Given the description of an element on the screen output the (x, y) to click on. 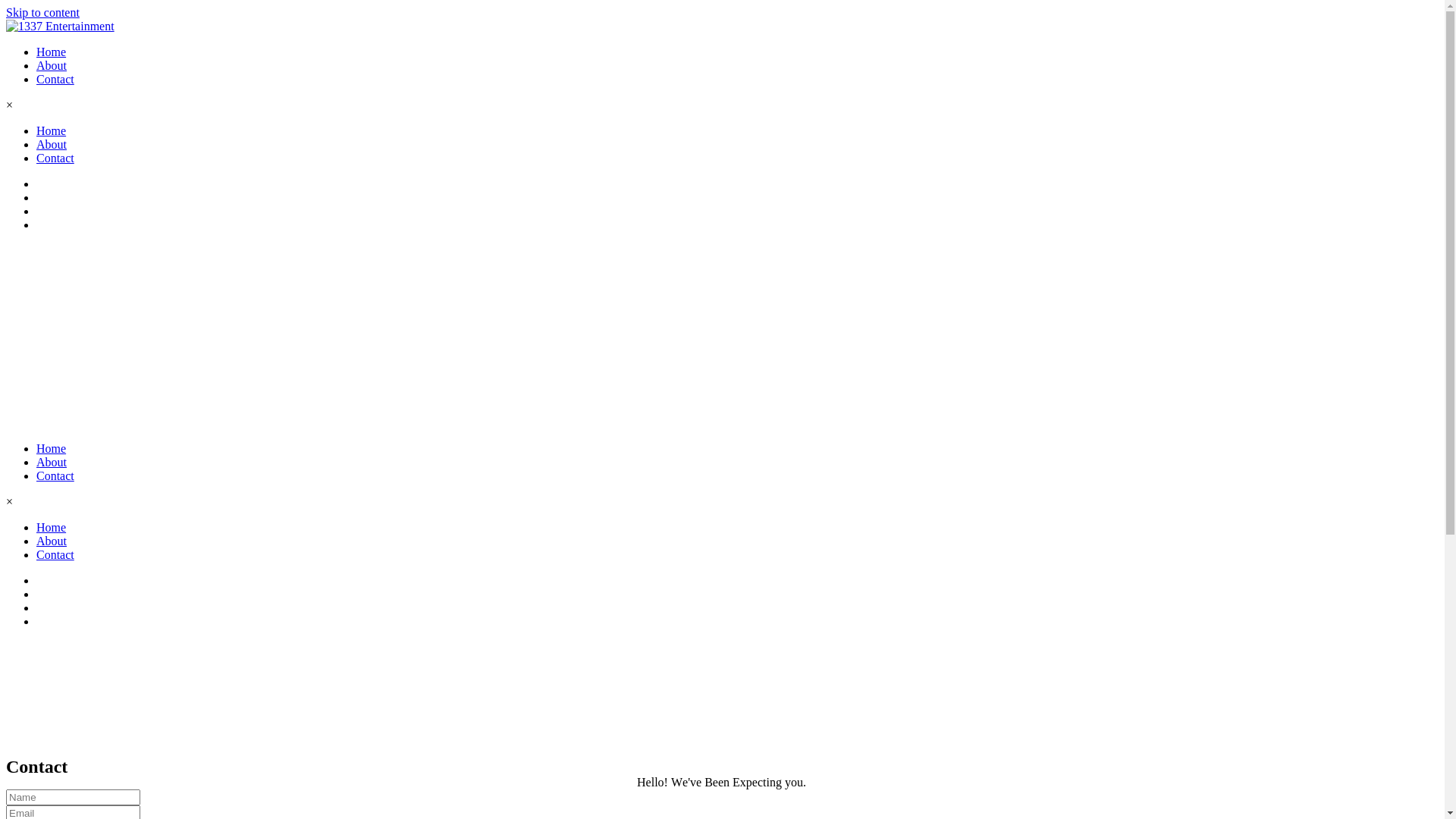
About Element type: text (51, 461)
Contact Element type: text (55, 475)
Home Element type: text (50, 130)
Home Element type: text (50, 51)
About Element type: text (51, 144)
Skip to content Element type: text (42, 12)
About Element type: text (51, 540)
Contact Element type: text (55, 78)
About Element type: text (51, 65)
Home Element type: text (50, 448)
Contact Element type: text (55, 554)
Home Element type: text (50, 526)
Contact Element type: text (55, 157)
